Given the description of an element on the screen output the (x, y) to click on. 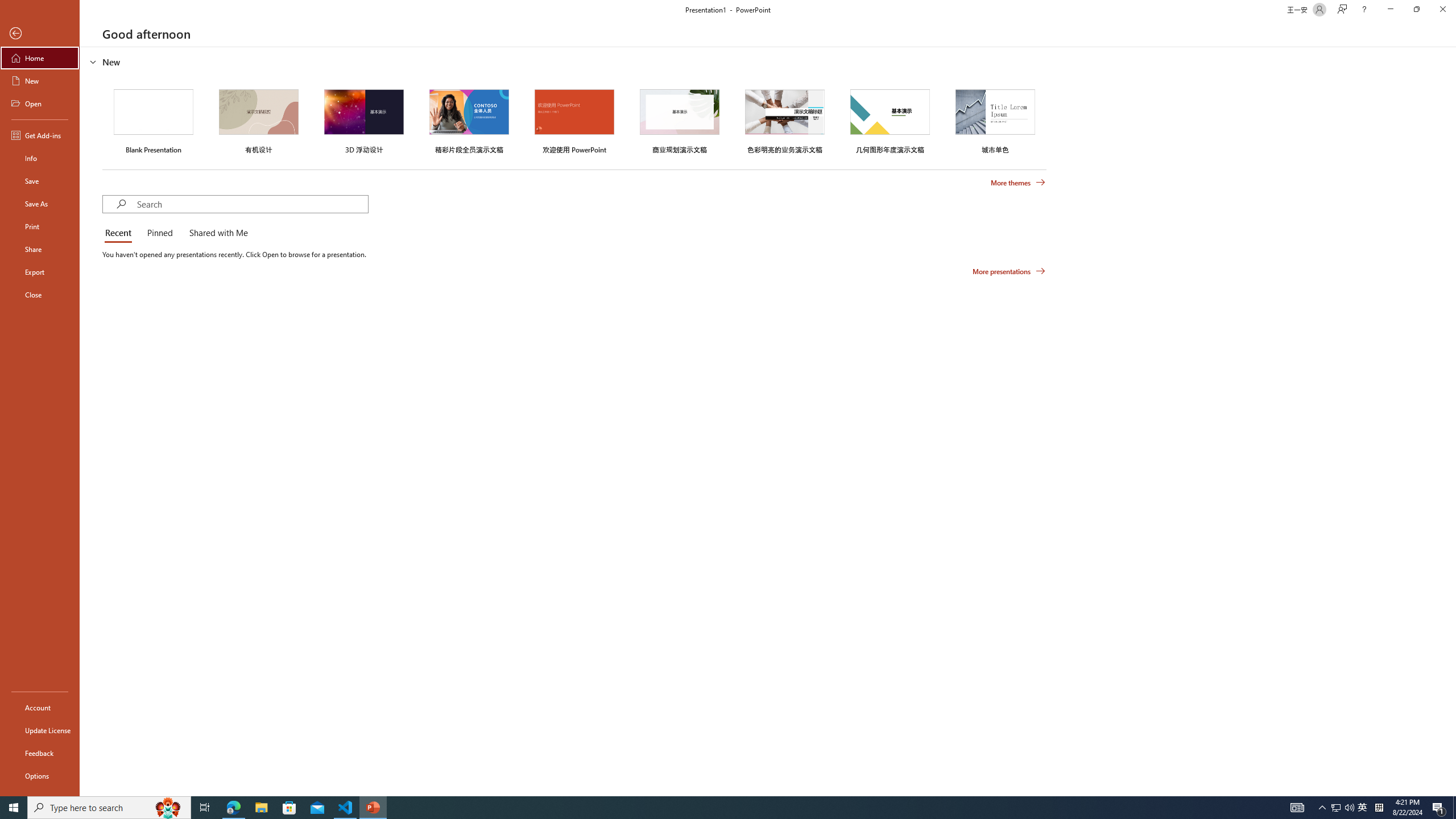
More themes (1018, 182)
Get Add-ins (40, 134)
Export (40, 271)
Shared with Me (215, 233)
New (40, 80)
Print (40, 225)
Save As (40, 203)
